Given the description of an element on the screen output the (x, y) to click on. 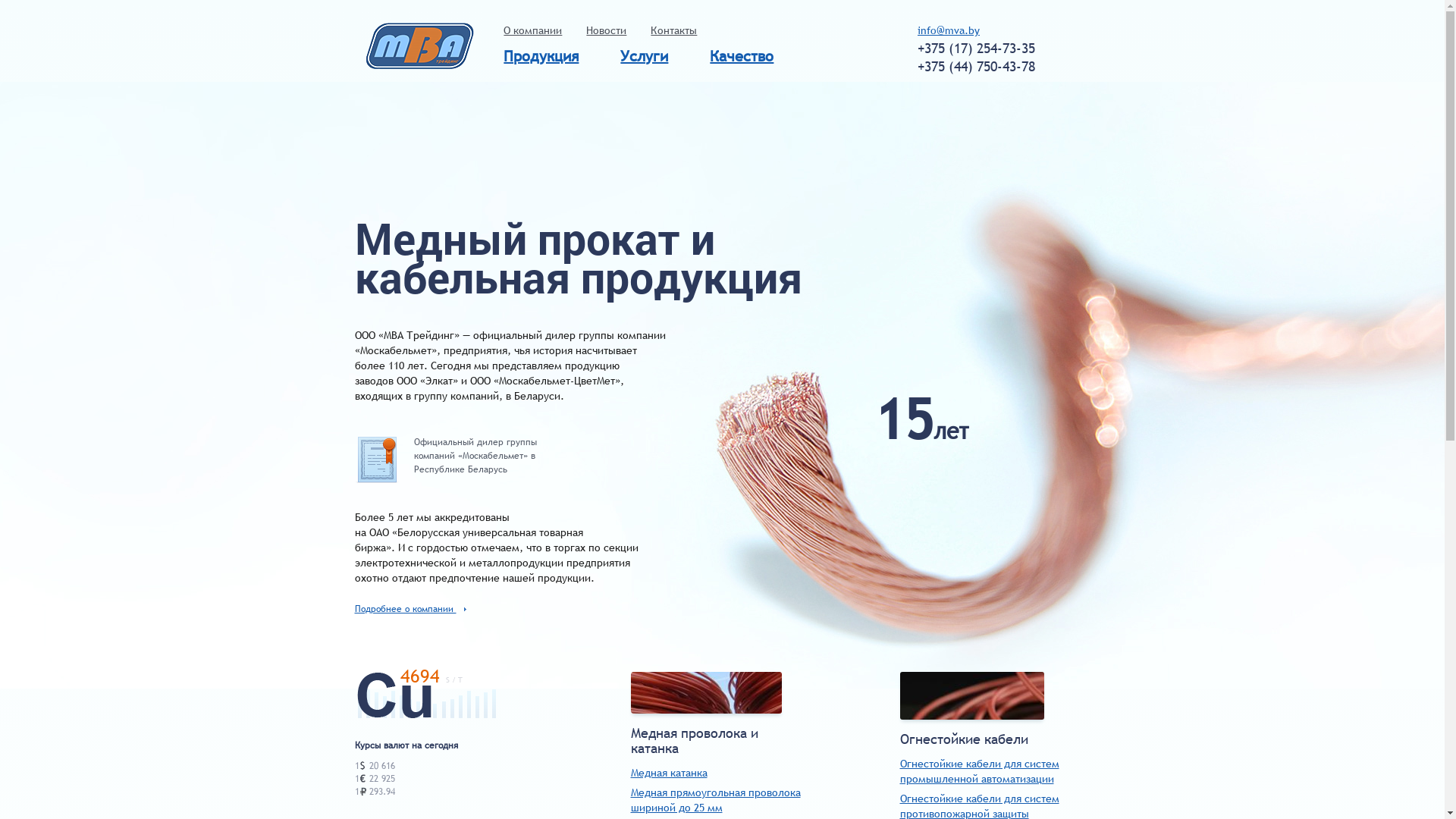
info@mva.by Element type: text (948, 30)
